Given the description of an element on the screen output the (x, y) to click on. 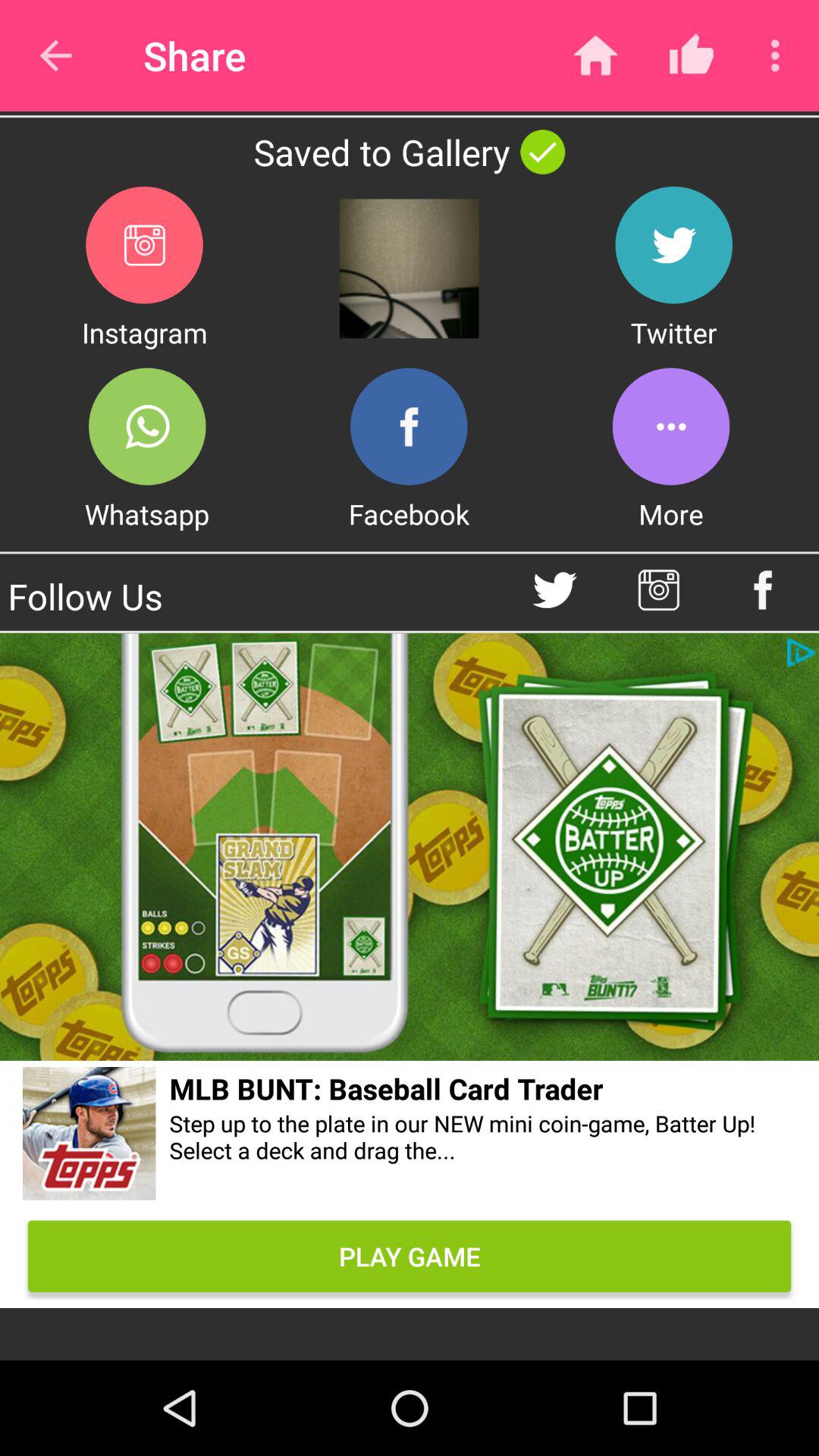
click to open this app (146, 426)
